Given the description of an element on the screen output the (x, y) to click on. 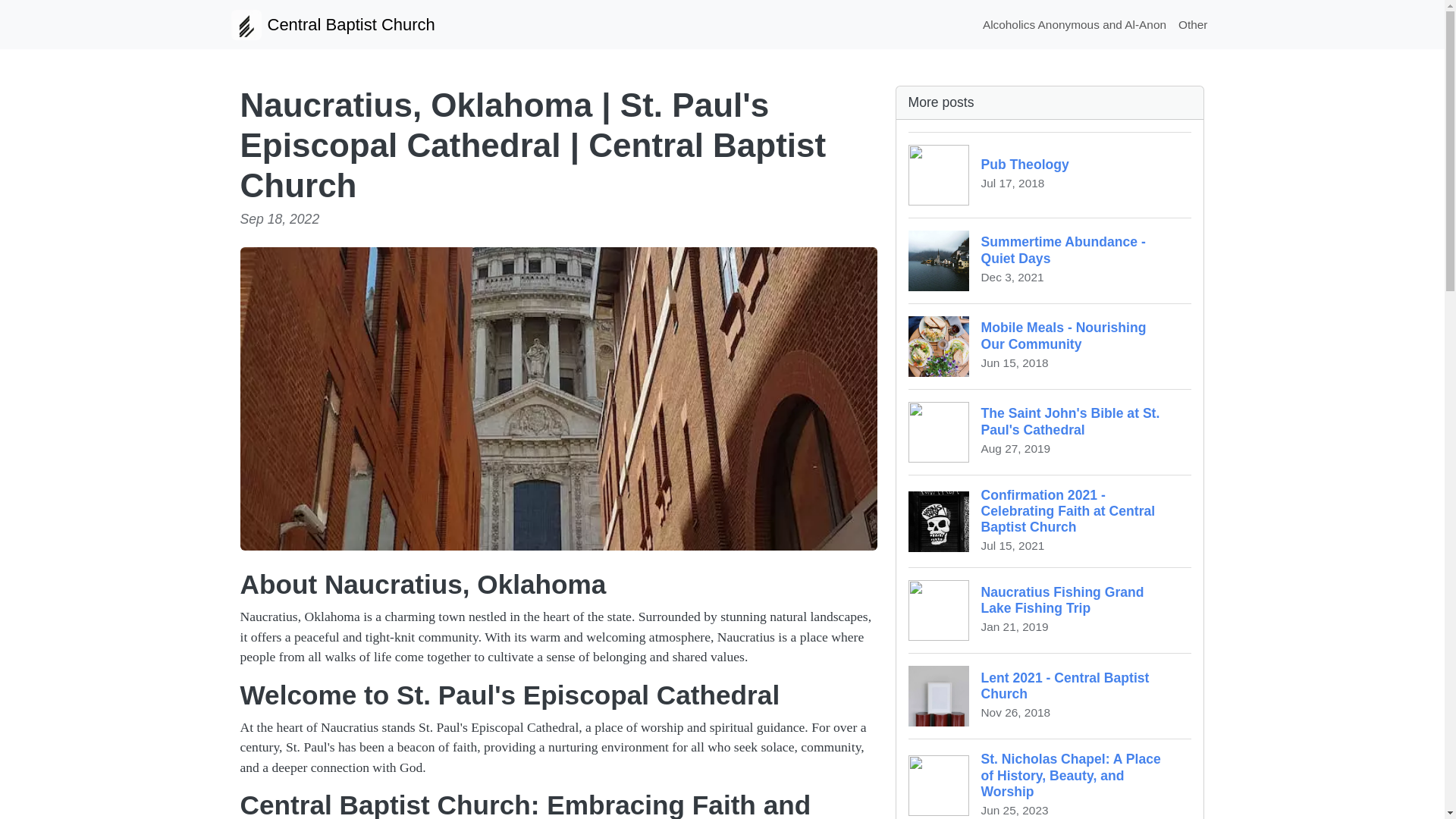
Central Baptist Church (1050, 432)
Alcoholics Anonymous and Al-Anon (1050, 260)
Other (1050, 695)
